Given the description of an element on the screen output the (x, y) to click on. 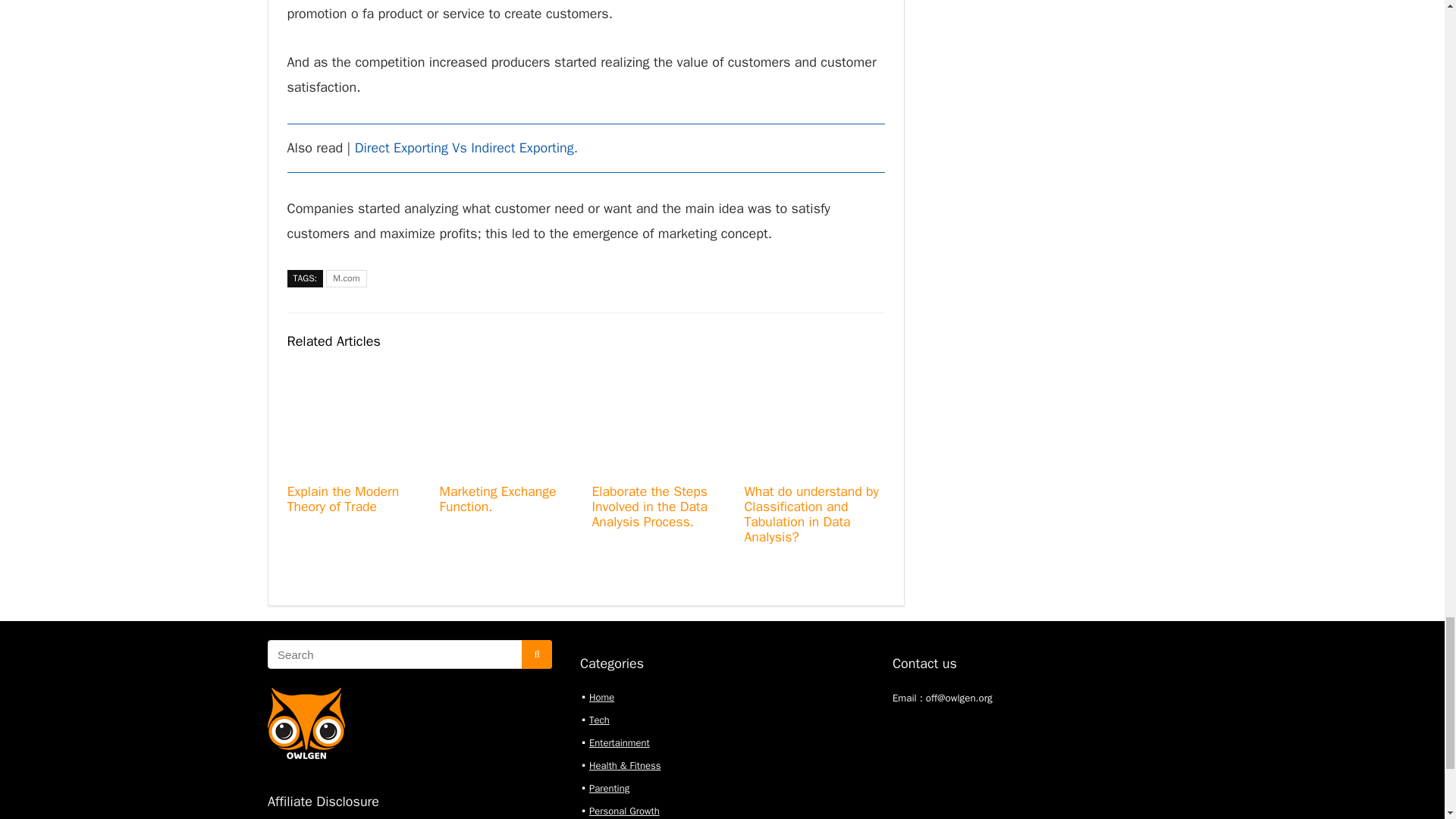
Explain the Modern Theory of Trade (342, 499)
M.com (346, 278)
Elaborate the Steps Involved in the Data Analysis Process. (648, 506)
Direct Exporting Vs Indirect Exporting. (466, 147)
Marketing Exchange Function. (497, 499)
